Given the description of an element on the screen output the (x, y) to click on. 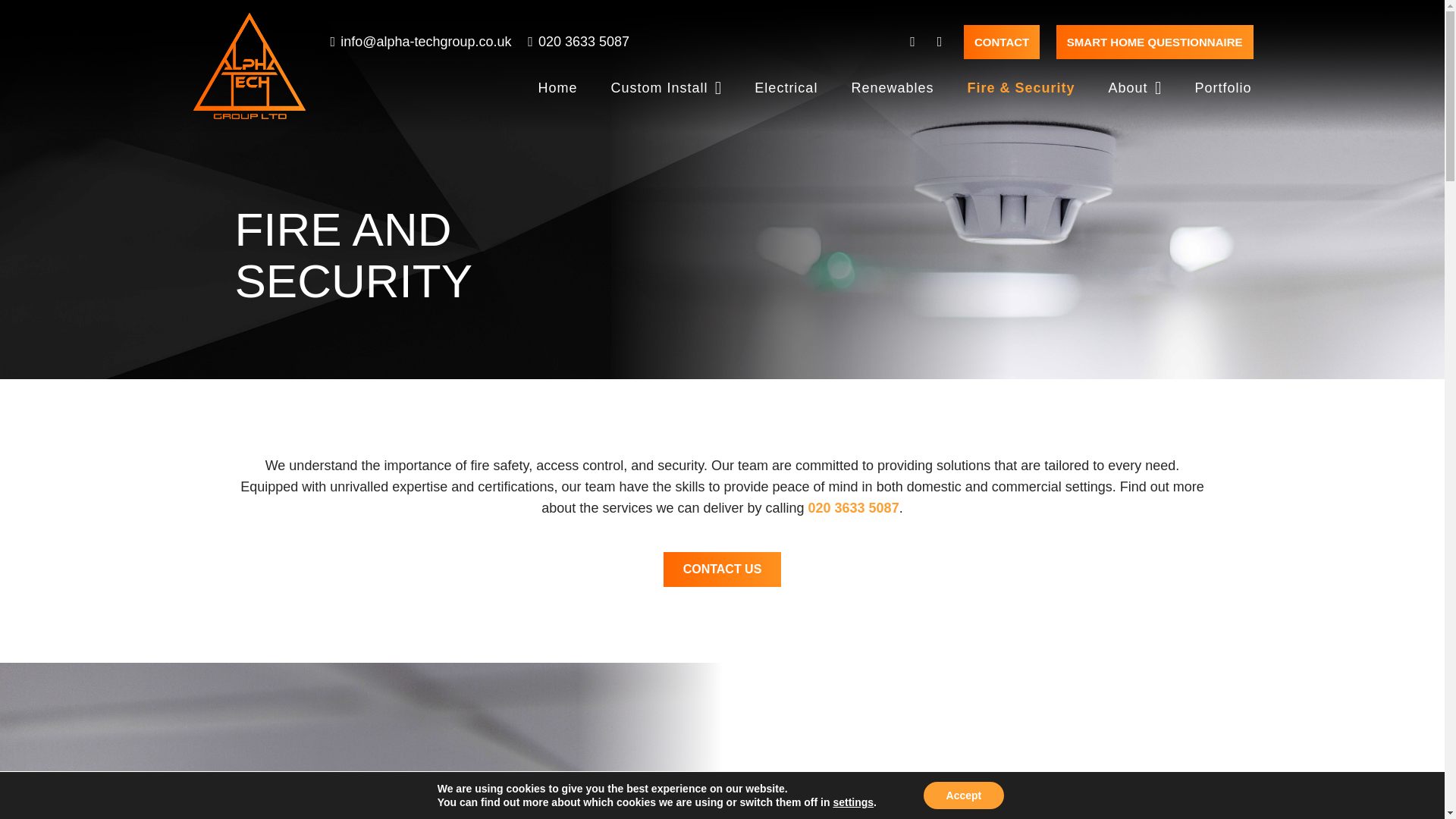
CONTACT US (722, 569)
020 3633 5087 (853, 508)
SMART HOME QUESTIONNAIRE (1155, 41)
Electrical (786, 87)
Renewables (892, 87)
Custom Install (666, 87)
Portfolio (1222, 87)
Home (557, 87)
CONTACT (1001, 41)
020 3633 5087 (577, 41)
